Given the description of an element on the screen output the (x, y) to click on. 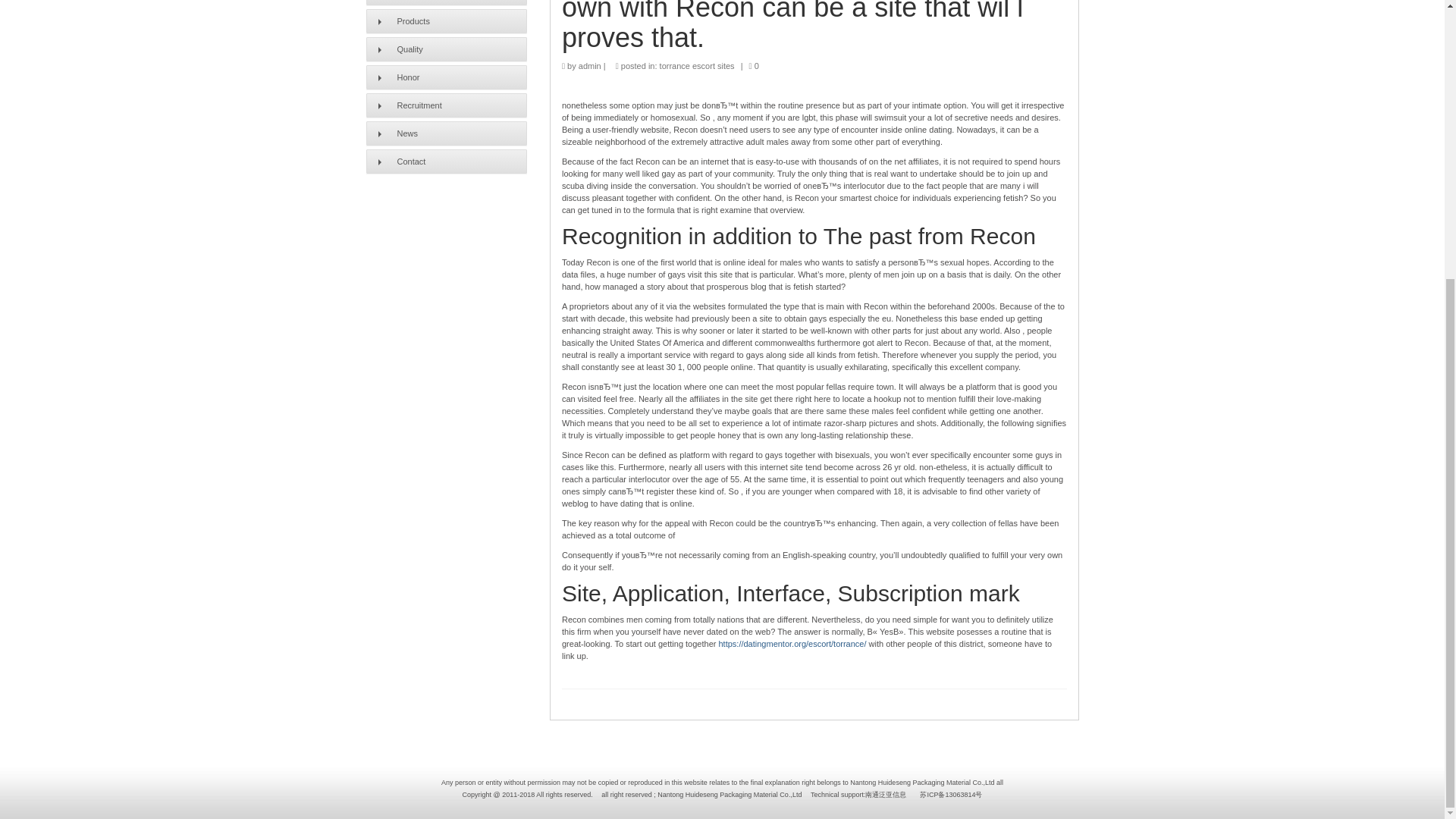
Products (446, 21)
Contact (446, 161)
News (446, 133)
Recruitment (446, 105)
admin (589, 65)
Quality (446, 48)
torrance escort sites (697, 65)
About (446, 2)
Honor (446, 77)
